Given the description of an element on the screen output the (x, y) to click on. 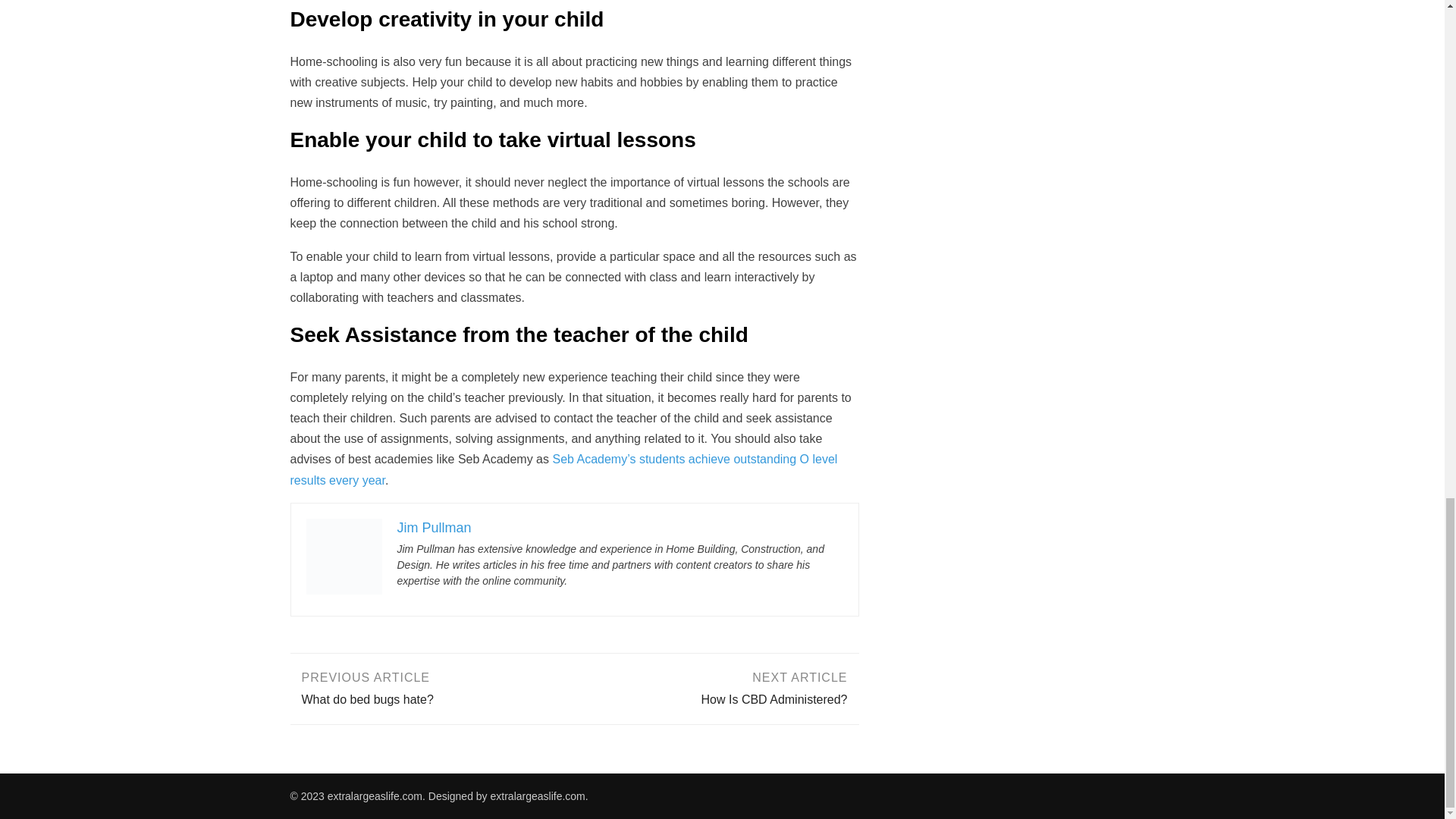
Jim Pullman (716, 687)
